Given the description of an element on the screen output the (x, y) to click on. 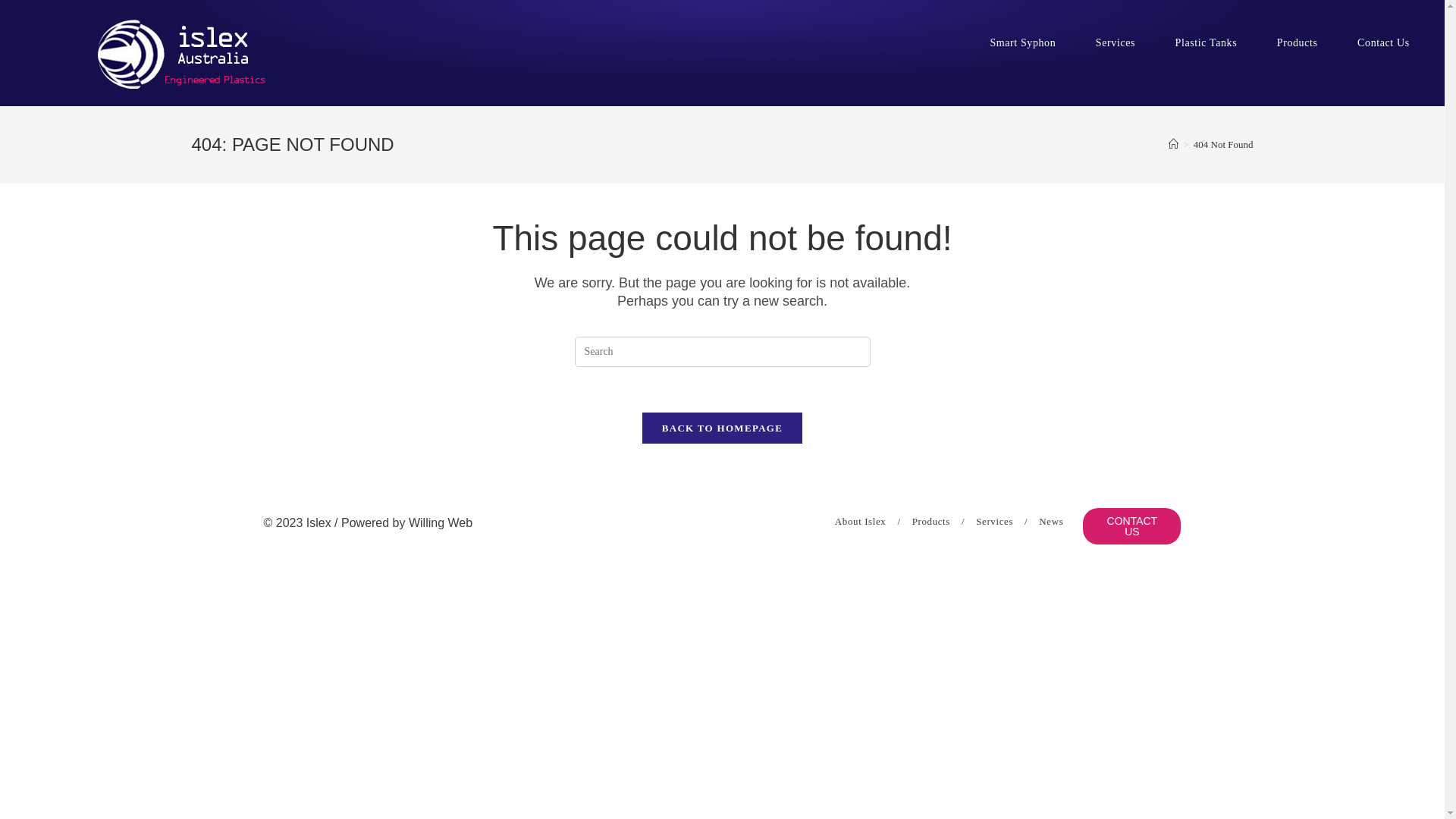
BACK TO HOMEPAGE Element type: text (722, 427)
Products Element type: text (938, 521)
About Islex Element type: text (867, 521)
Services Element type: text (1115, 43)
Services Element type: text (1001, 521)
Contact Us Element type: text (1383, 43)
404 Not Found Element type: text (1223, 144)
Willing Web Element type: text (440, 522)
CONTACT US Element type: text (1131, 526)
Products Element type: text (1297, 43)
News Element type: text (1050, 521)
Smart Syphon Element type: text (1022, 43)
Plastic Tanks Element type: text (1205, 43)
